Given the description of an element on the screen output the (x, y) to click on. 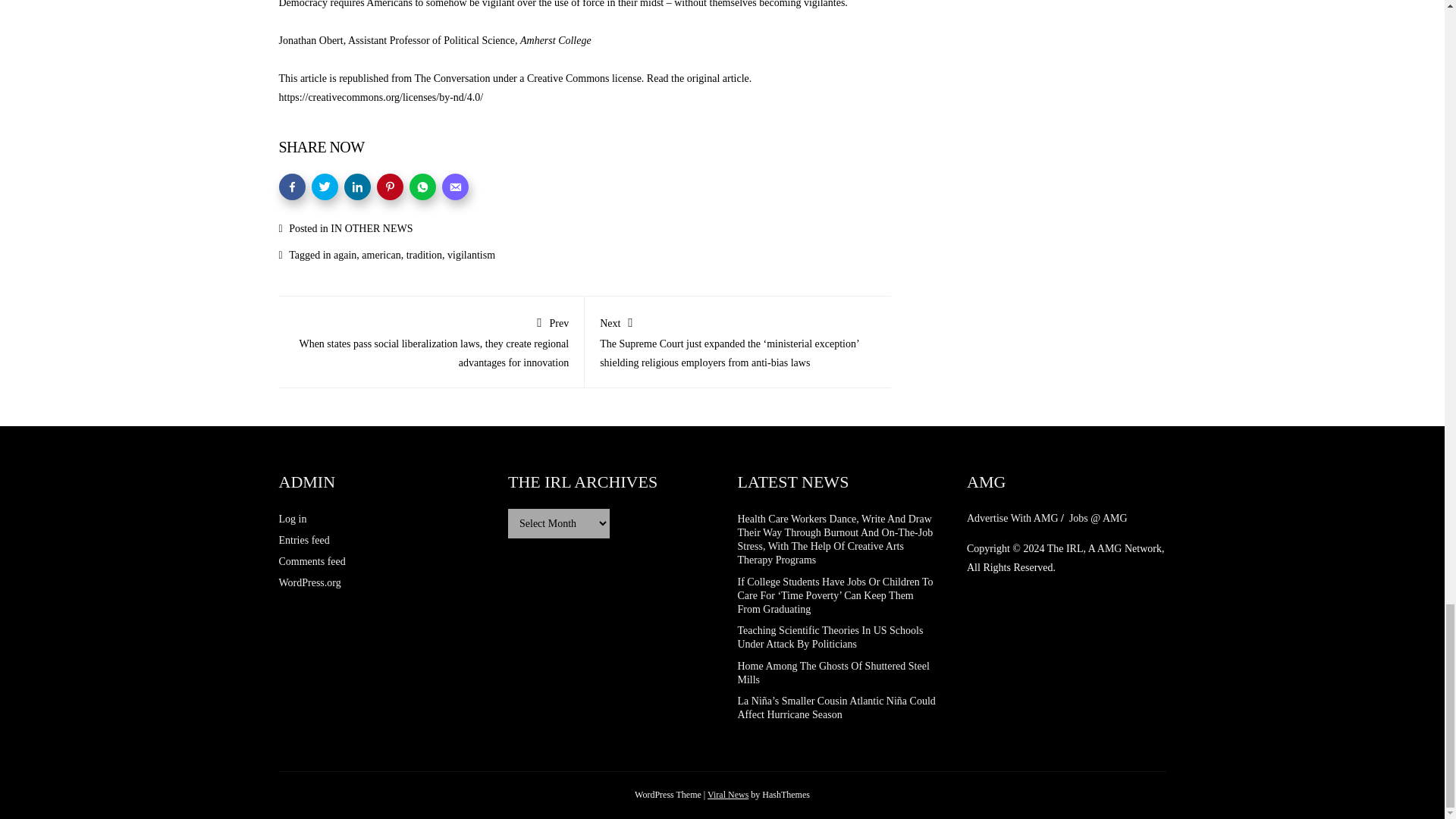
Pinterest (389, 186)
WhatsApp (422, 186)
Facebook (292, 186)
Twitter (324, 186)
Download Viral News (727, 794)
Linkedin (357, 186)
Email (454, 186)
